Given the description of an element on the screen output the (x, y) to click on. 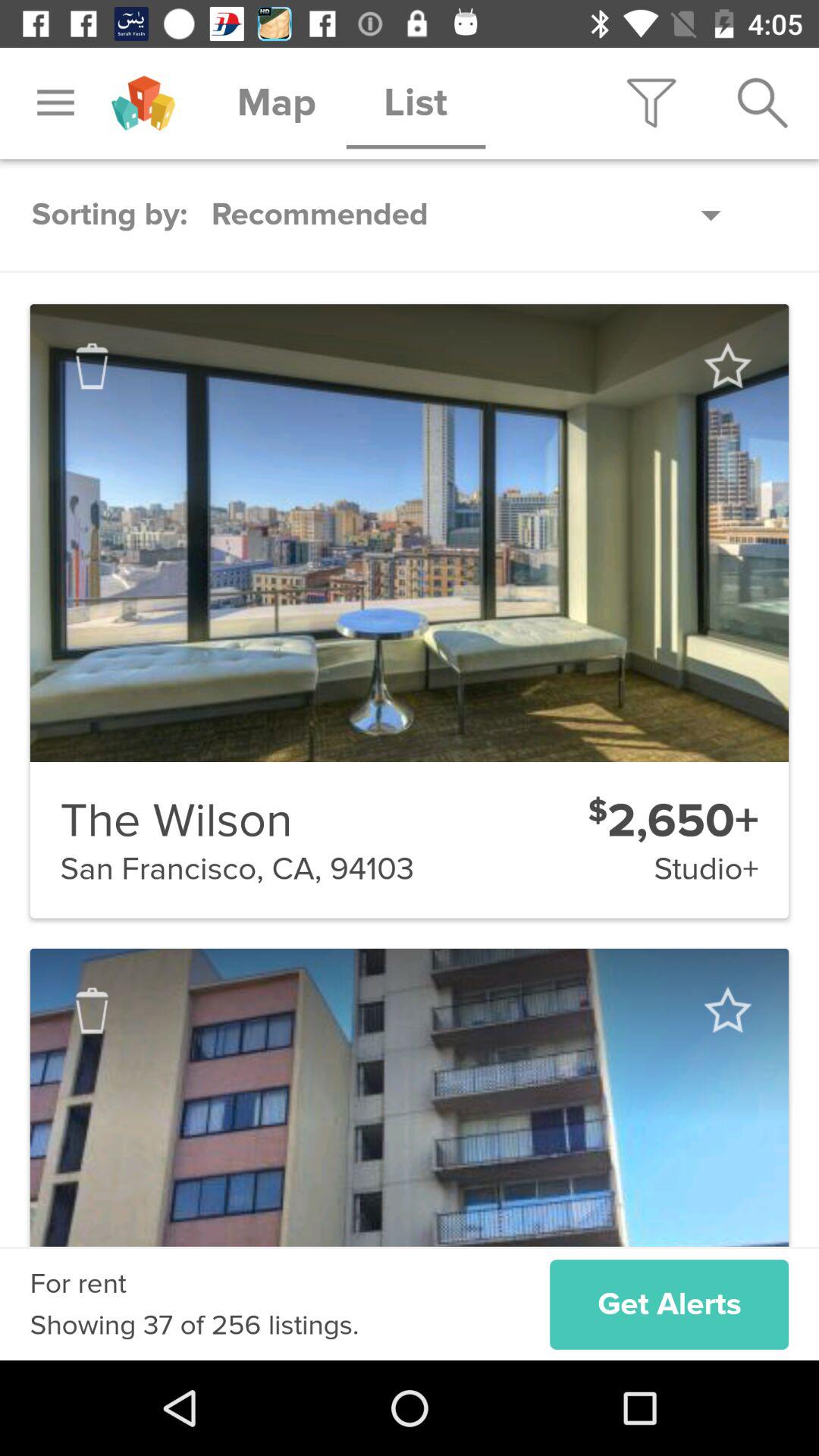
favorite this listing (726, 1010)
